Given the description of an element on the screen output the (x, y) to click on. 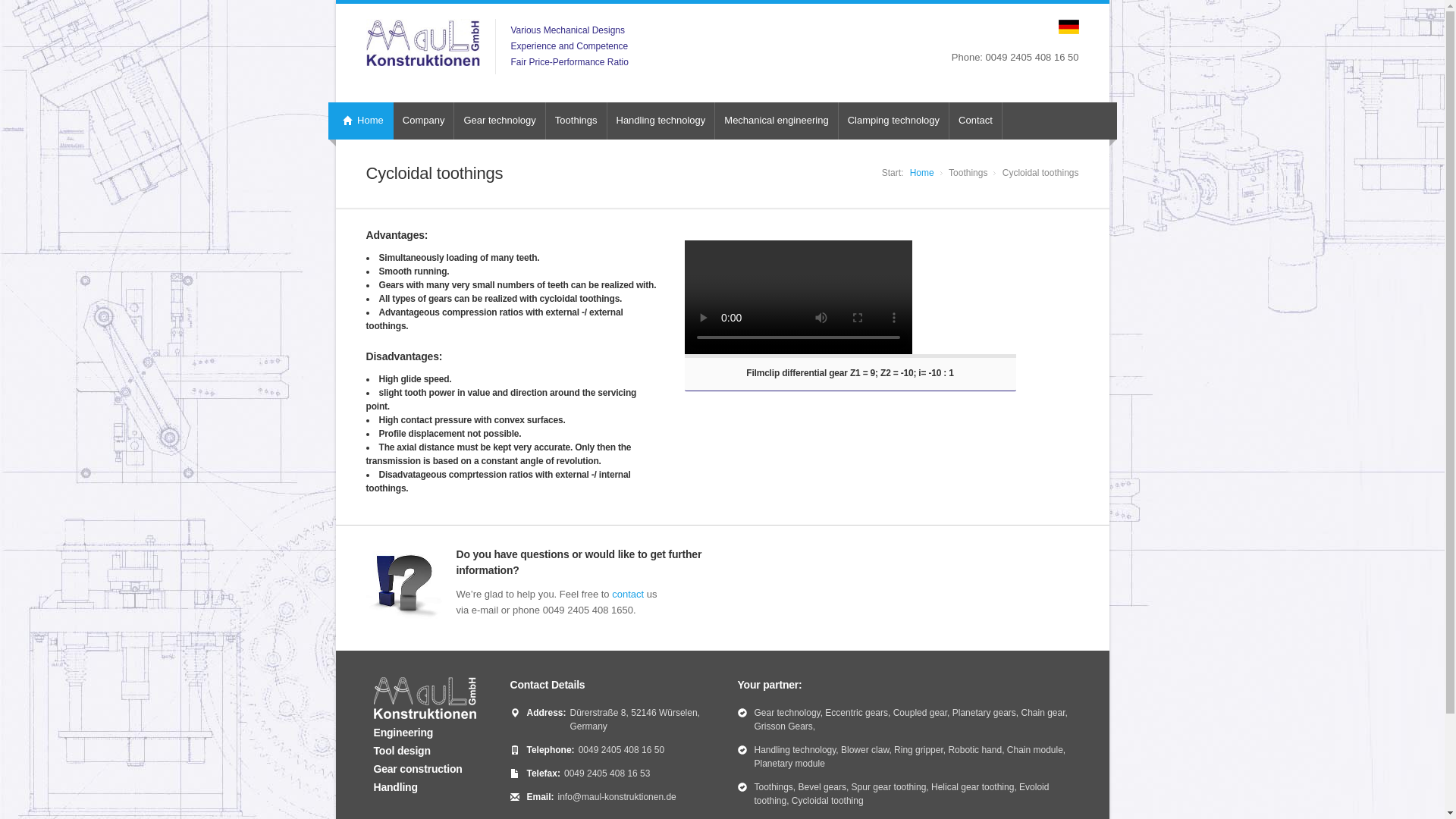
Home (360, 120)
Gear technology (499, 120)
Company (423, 120)
